Given the description of an element on the screen output the (x, y) to click on. 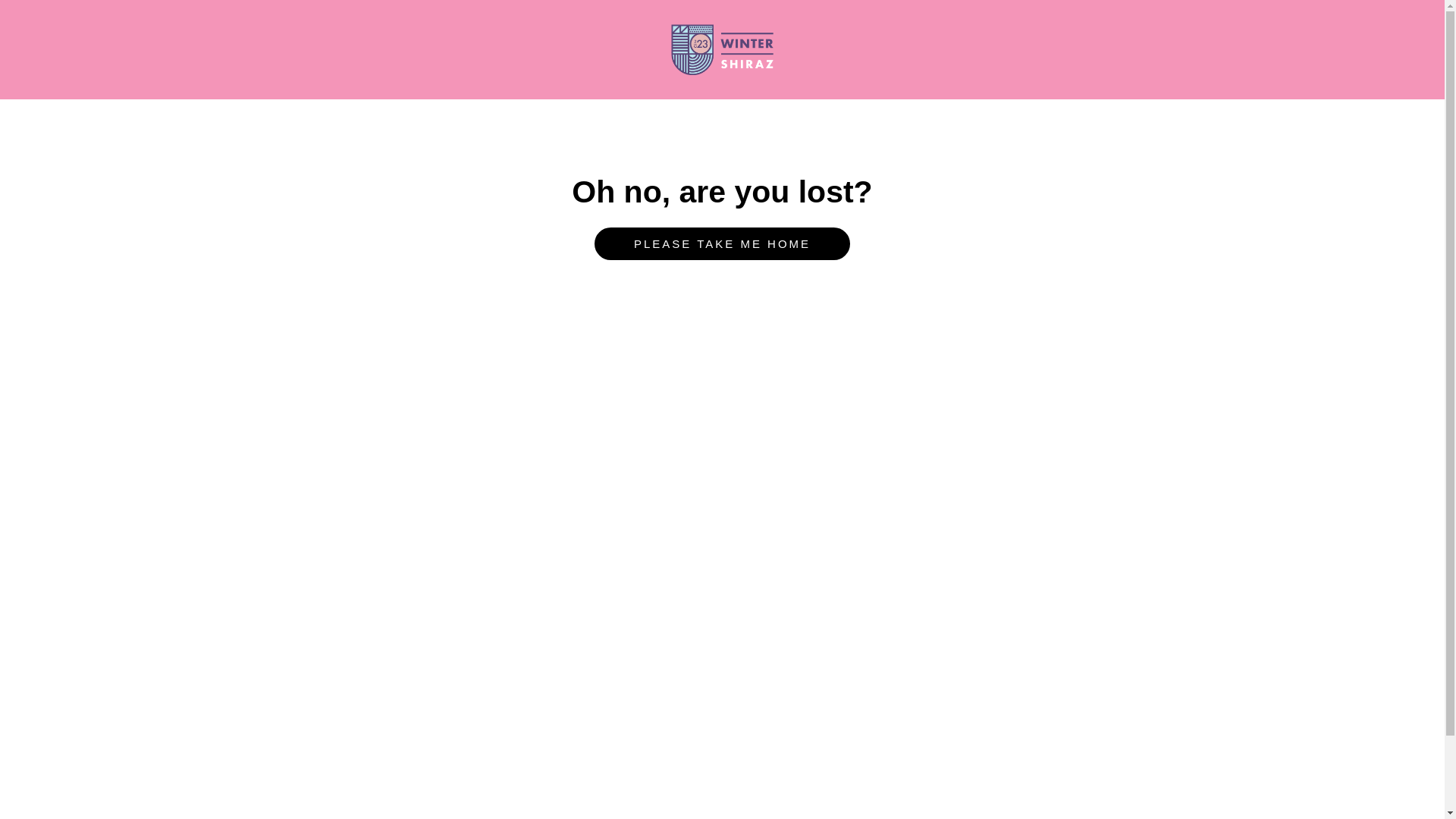
PLEASE TAKE ME HOME (722, 244)
